Given the description of an element on the screen output the (x, y) to click on. 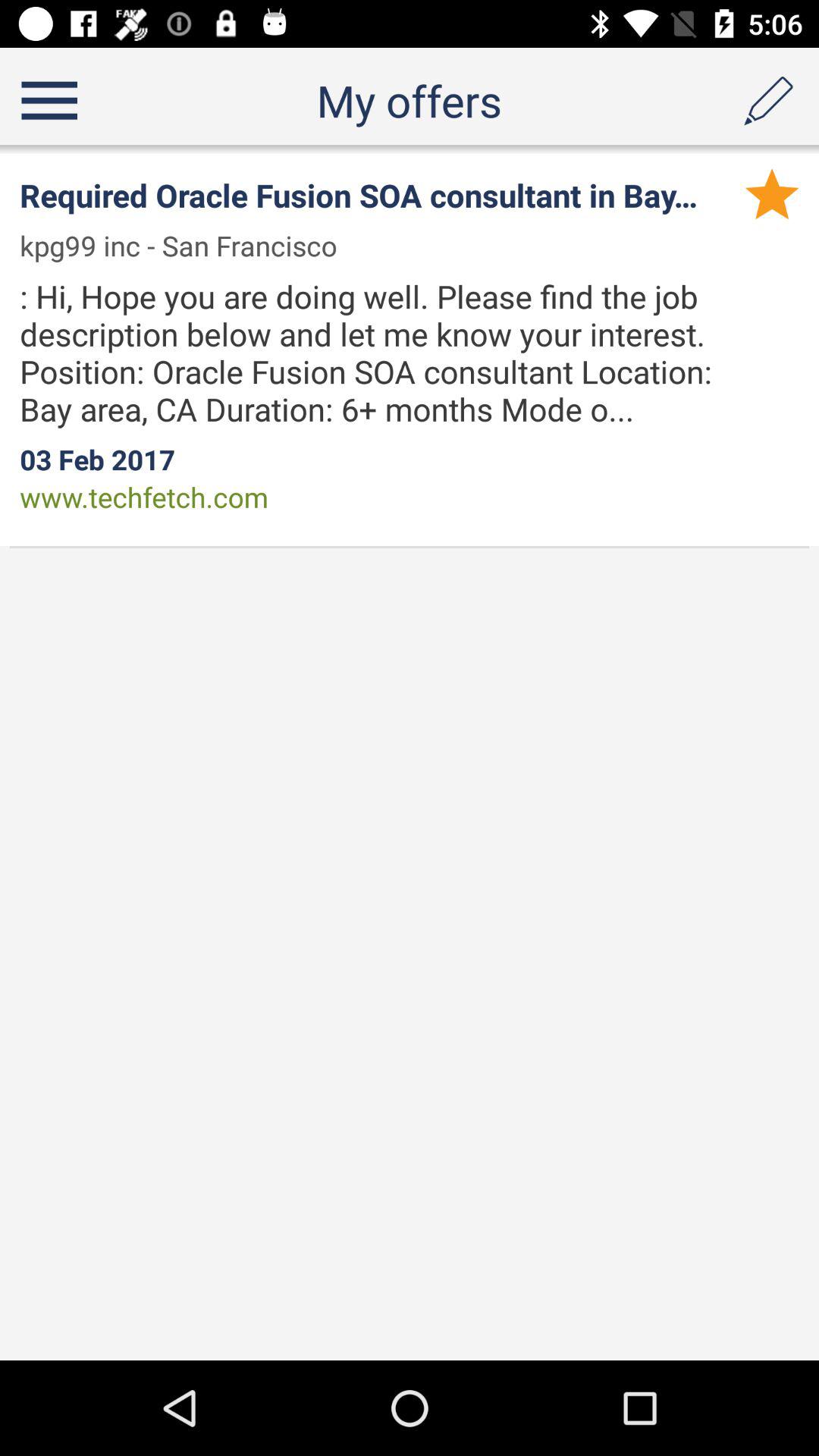
turn on app below required oracle fusion item (188, 245)
